Given the description of an element on the screen output the (x, y) to click on. 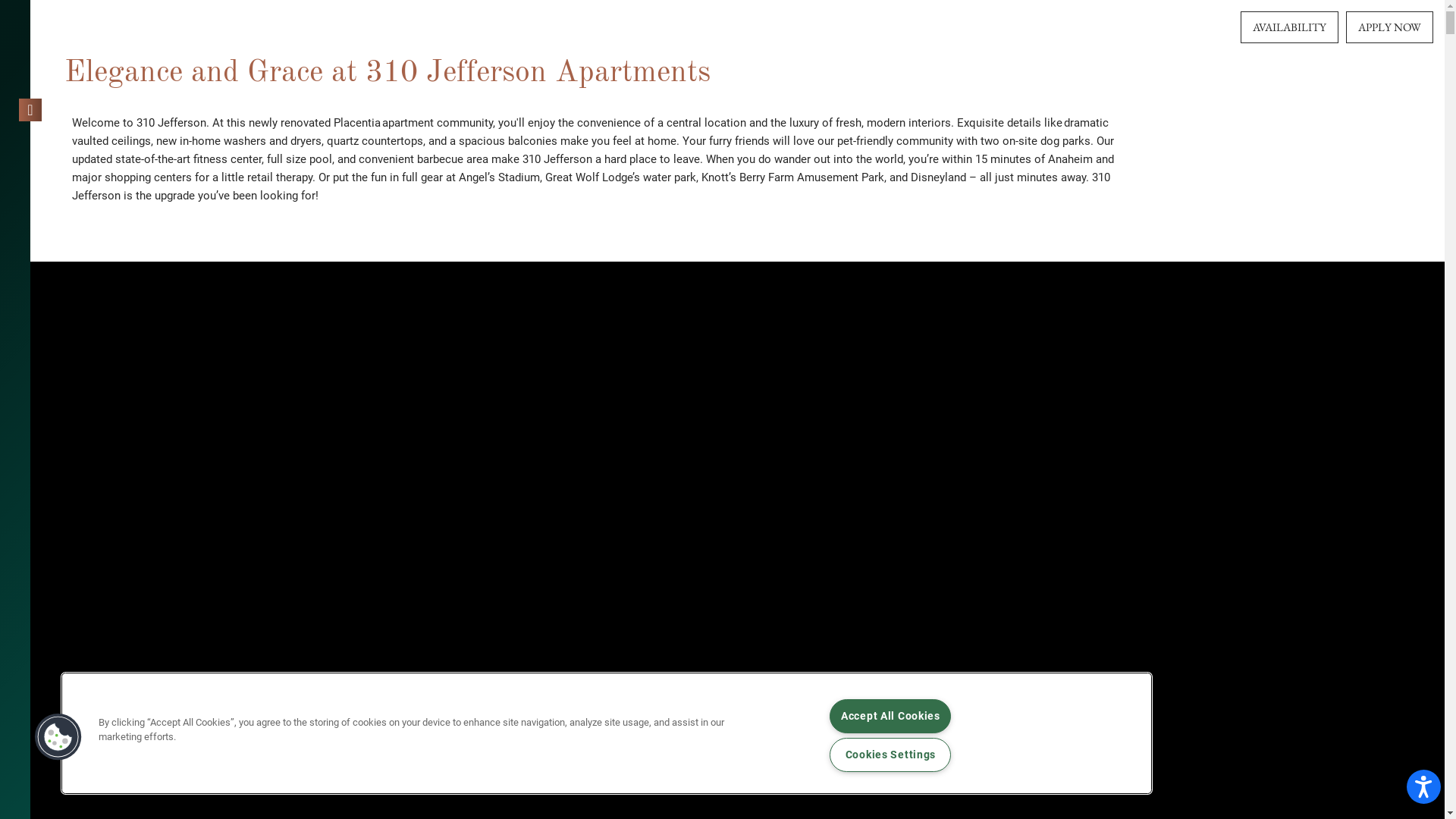
Cookies Button Element type: text (58, 736)
AVAILABILITY Element type: text (1289, 27)
Accept All Cookies Element type: text (889, 716)
APPLY NOW Element type: text (1389, 27)
Cookies Settings Element type: text (889, 754)
